Given the description of an element on the screen output the (x, y) to click on. 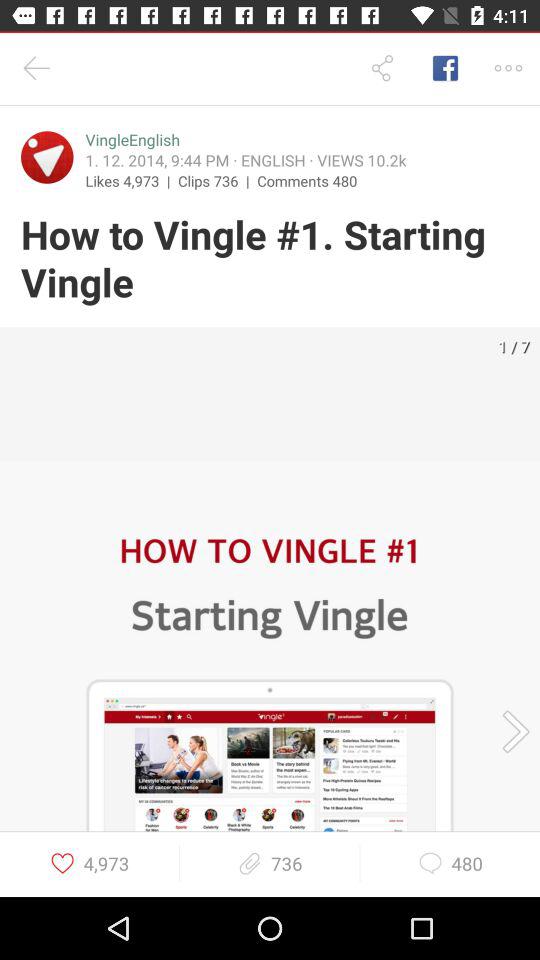
click the item below 1 / 7 item (509, 731)
